Given the description of an element on the screen output the (x, y) to click on. 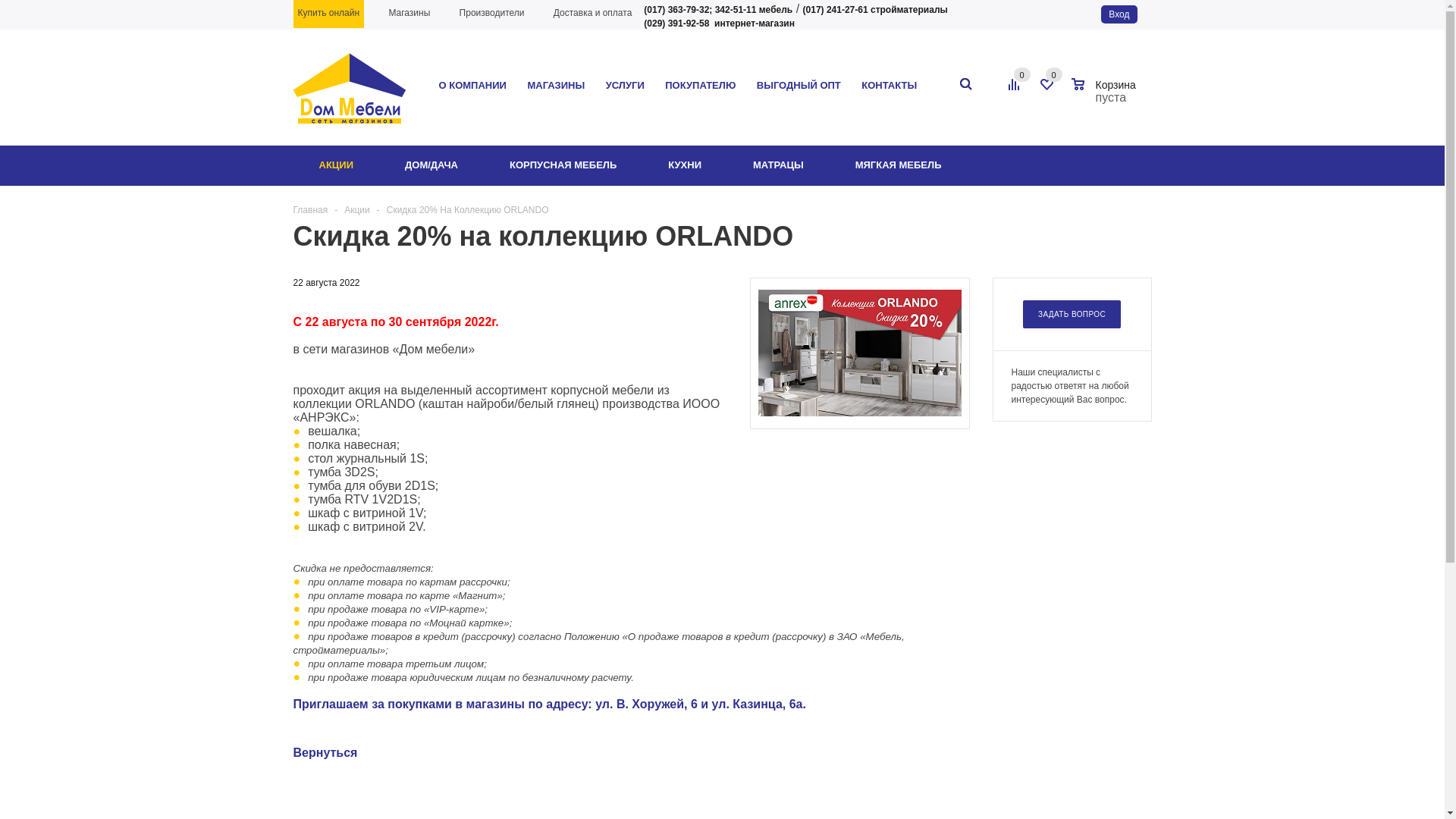
0 Element type: text (1021, 73)
